Given the description of an element on the screen output the (x, y) to click on. 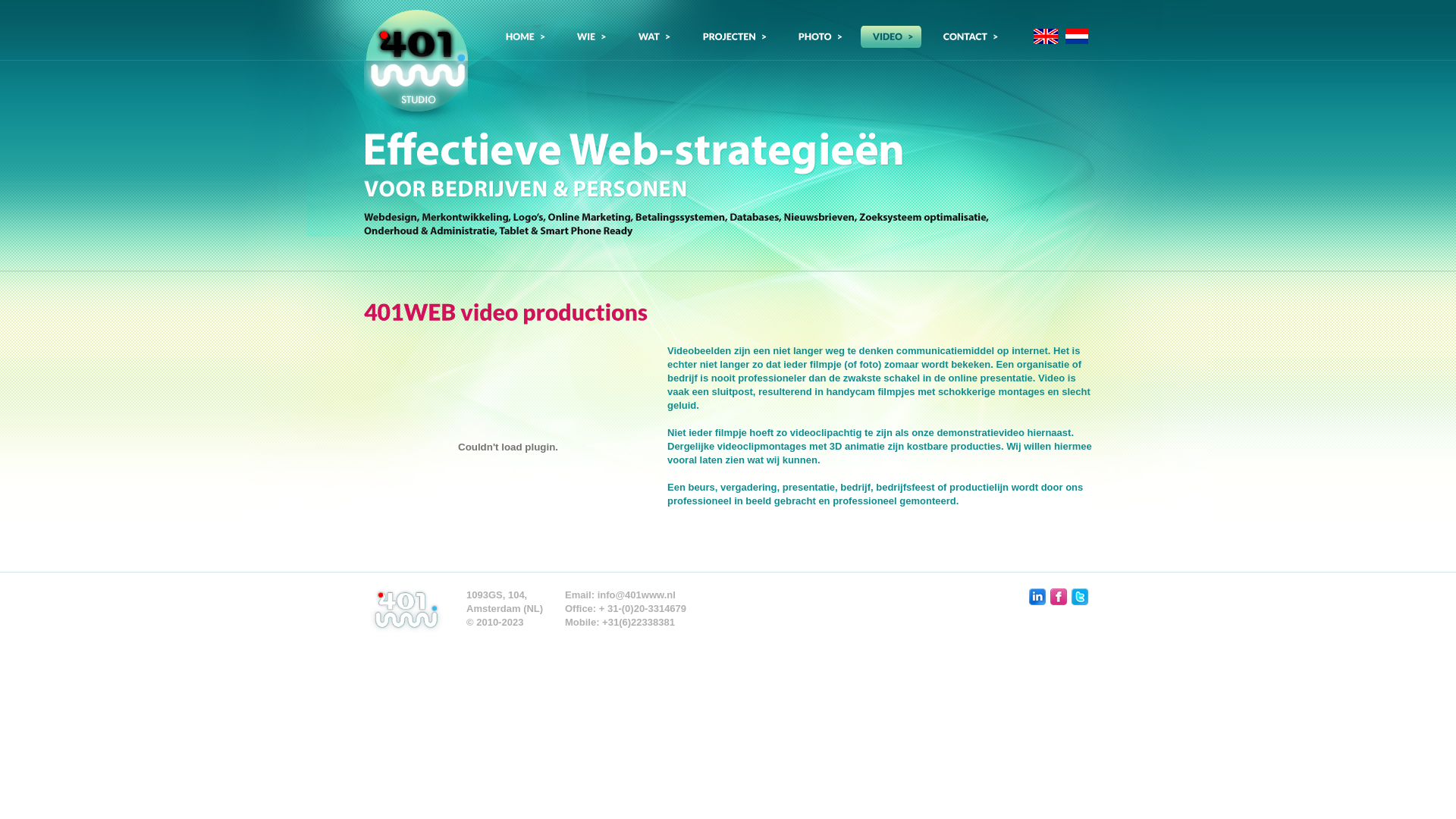
twitter Element type: hover (1079, 596)
401WWW Element type: text (415, 65)
info@401www.nl Element type: text (636, 594)
Linkedin Element type: hover (1037, 596)
facebook Element type: hover (1058, 596)
